Given the description of an element on the screen output the (x, y) to click on. 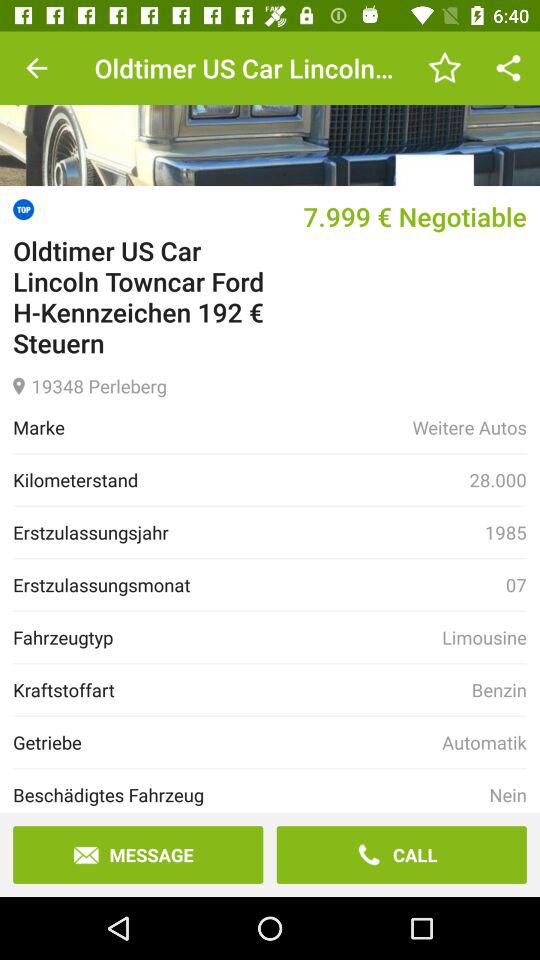
click item next to the erstzulassungsjahr item (505, 532)
